Given the description of an element on the screen output the (x, y) to click on. 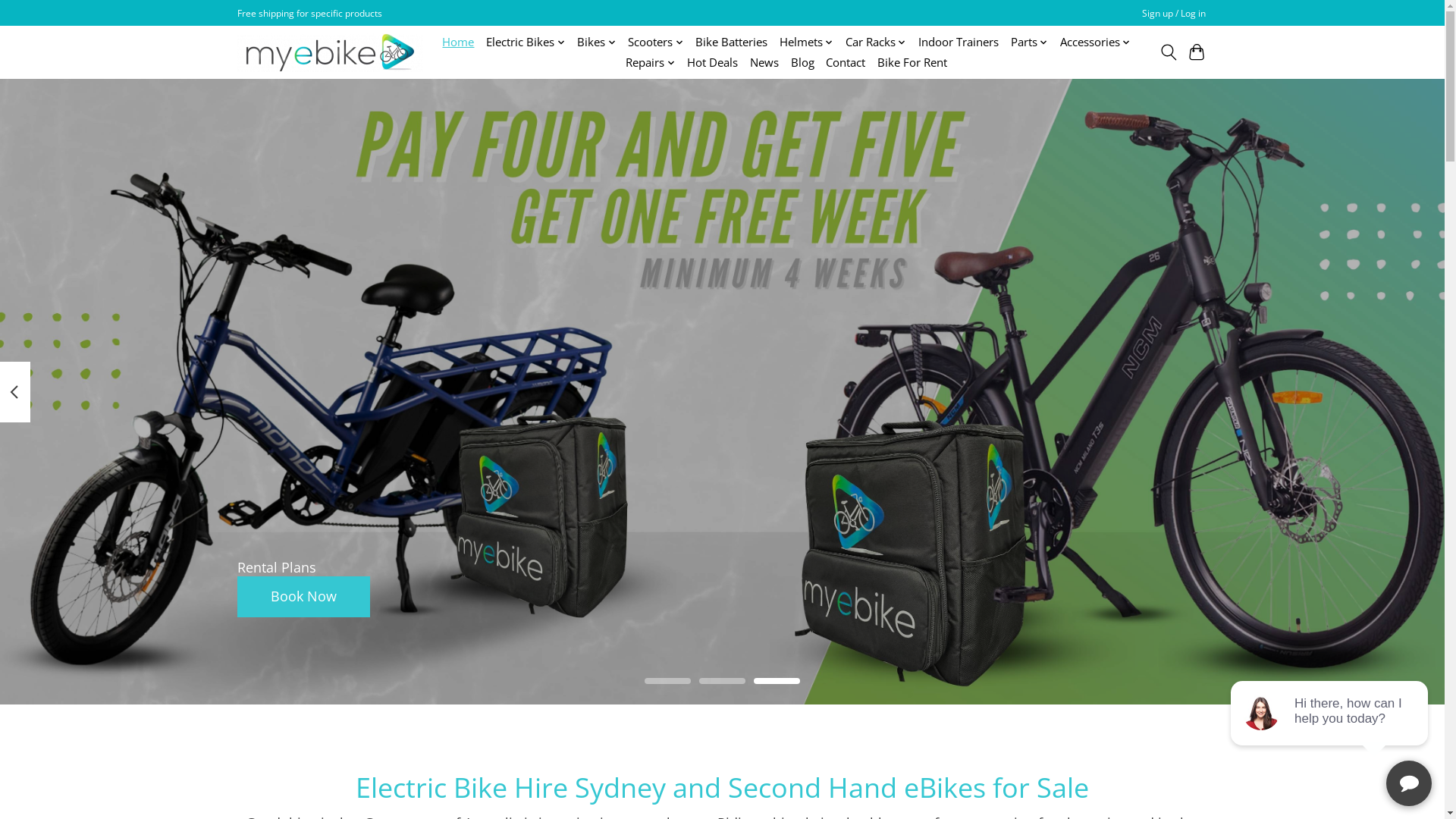
Accessories Element type: text (1094, 41)
Car Racks Element type: text (875, 41)
Hot Deals Element type: text (712, 62)
Contact Element type: text (845, 62)
Sign up / Log in Element type: text (1173, 12)
Blog Element type: text (802, 62)
Helmets Element type: text (806, 41)
Repairs Element type: text (650, 62)
Bike For Rent Element type: text (912, 62)
Scooters Element type: text (655, 41)
Book Now Element type: text (302, 596)
MyeBike Sydney Element type: hover (329, 52)
Home Element type: text (457, 41)
Bikes Element type: text (596, 41)
Parts Element type: text (1029, 41)
Electric Bikes Element type: text (525, 41)
Indoor Trainers Element type: text (958, 41)
Bike Batteries Element type: text (731, 41)
News Element type: text (764, 62)
